Given the description of an element on the screen output the (x, y) to click on. 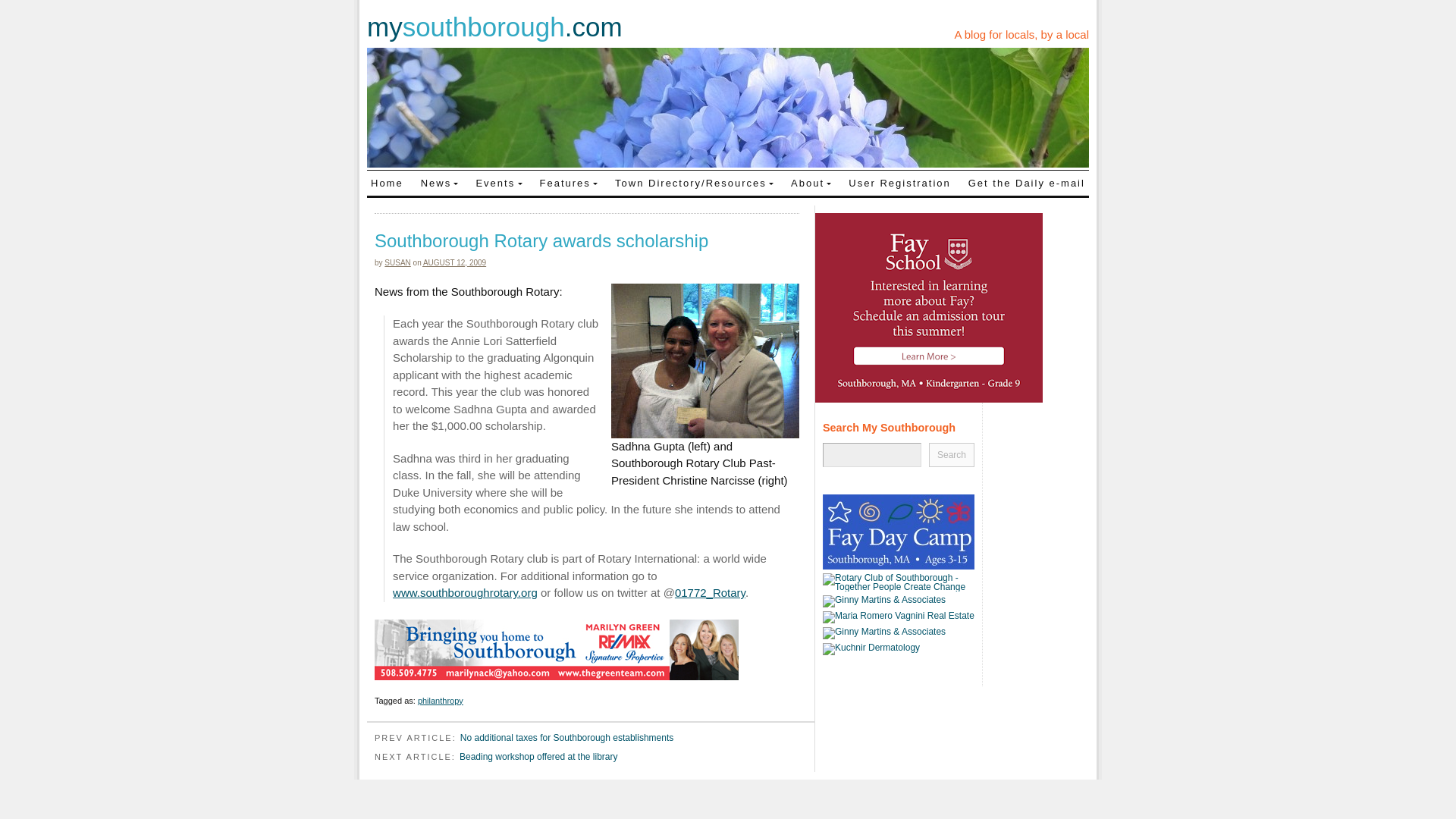
mysouthborough.com (494, 26)
A blog for locals, by a local (1021, 33)
News (439, 182)
Home (386, 182)
Home (386, 182)
News (439, 182)
Events (498, 182)
Events (498, 182)
Features (568, 182)
